Given the description of an element on the screen output the (x, y) to click on. 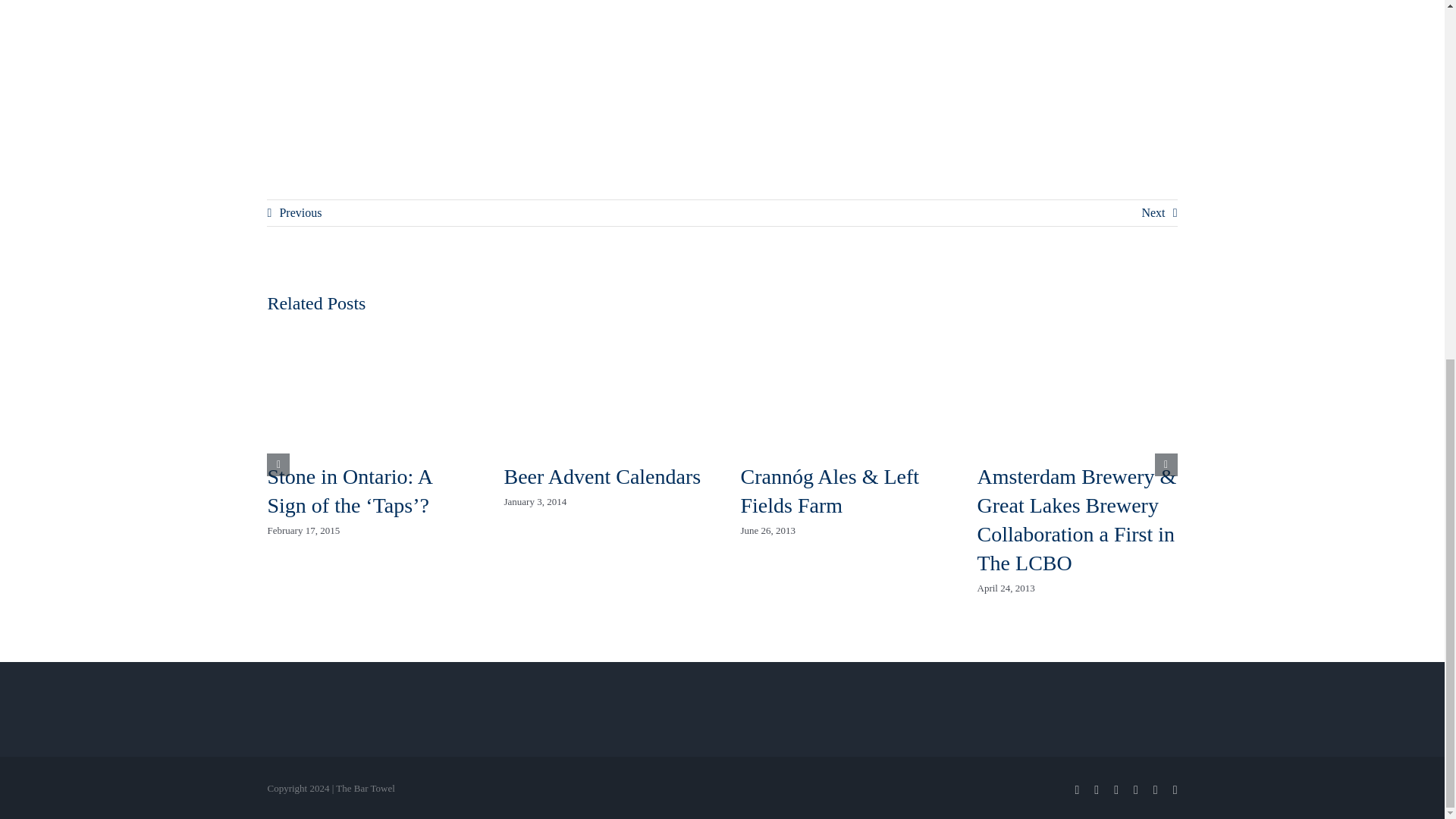
Previous (293, 213)
Beer Advent Calendars (601, 476)
Next (1158, 213)
